Given the description of an element on the screen output the (x, y) to click on. 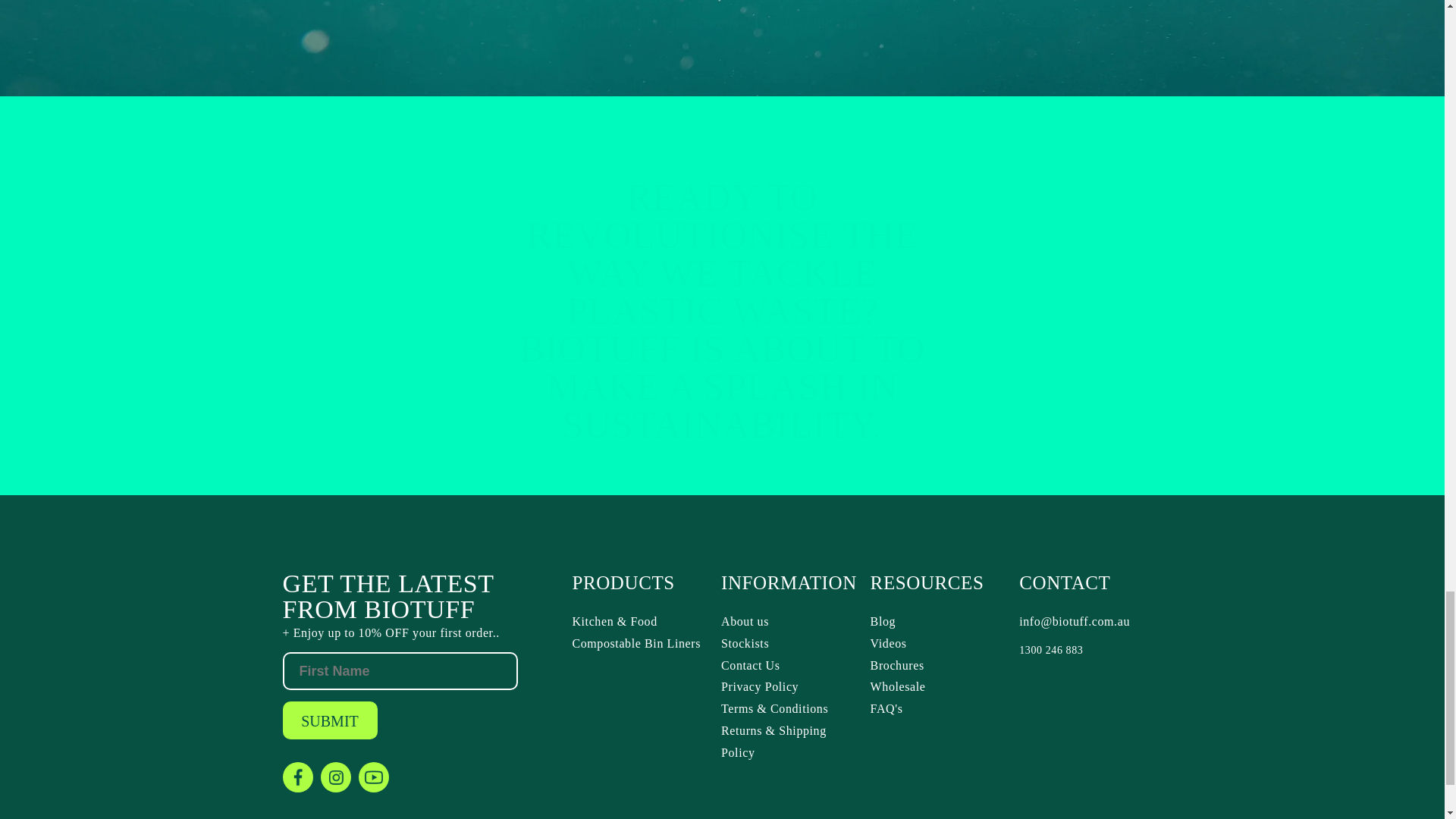
Compostable Bin Liners (639, 644)
Privacy Policy (788, 687)
About us (788, 621)
Contact Us (788, 666)
Wholesale (938, 687)
Blog (938, 621)
Brochures (938, 666)
Stockists (788, 644)
Videos (938, 644)
FAQ's (938, 709)
